Given the description of an element on the screen output the (x, y) to click on. 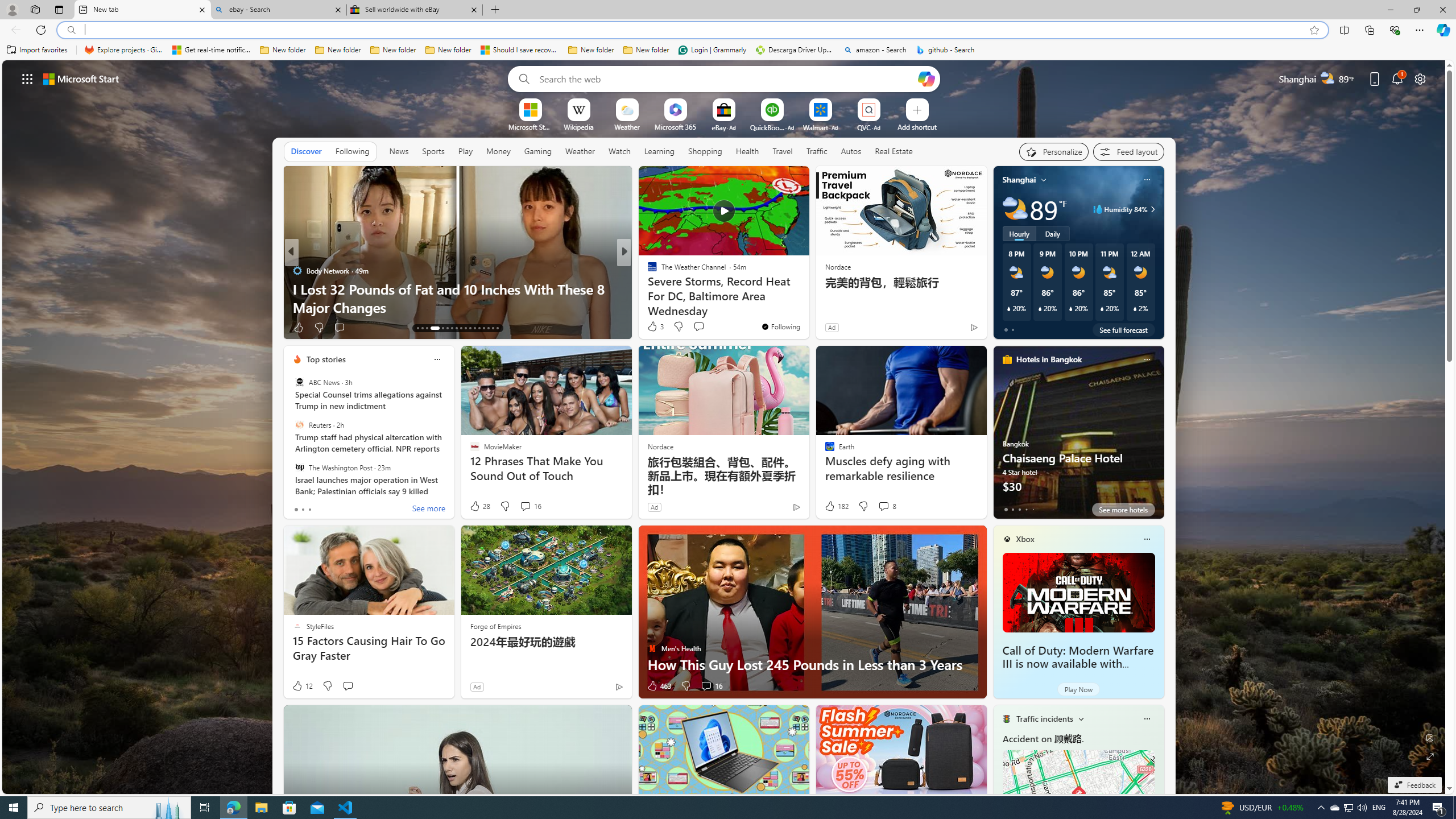
The Washington Post (299, 466)
See full forecast (1123, 329)
138 Like (304, 327)
AutomationID: tab-24 (474, 328)
View comments 96 Comment (357, 327)
AutomationID: tab-18 (446, 328)
AutomationID: tab-21 (460, 328)
View comments 8 Comment (883, 505)
Favorites bar (728, 49)
ETNT Mind+Body (647, 270)
Dailymotion (647, 288)
New folder (646, 49)
The #1 Best Bench Press Workout To Increase Strength (807, 298)
Play (465, 151)
